Given the description of an element on the screen output the (x, y) to click on. 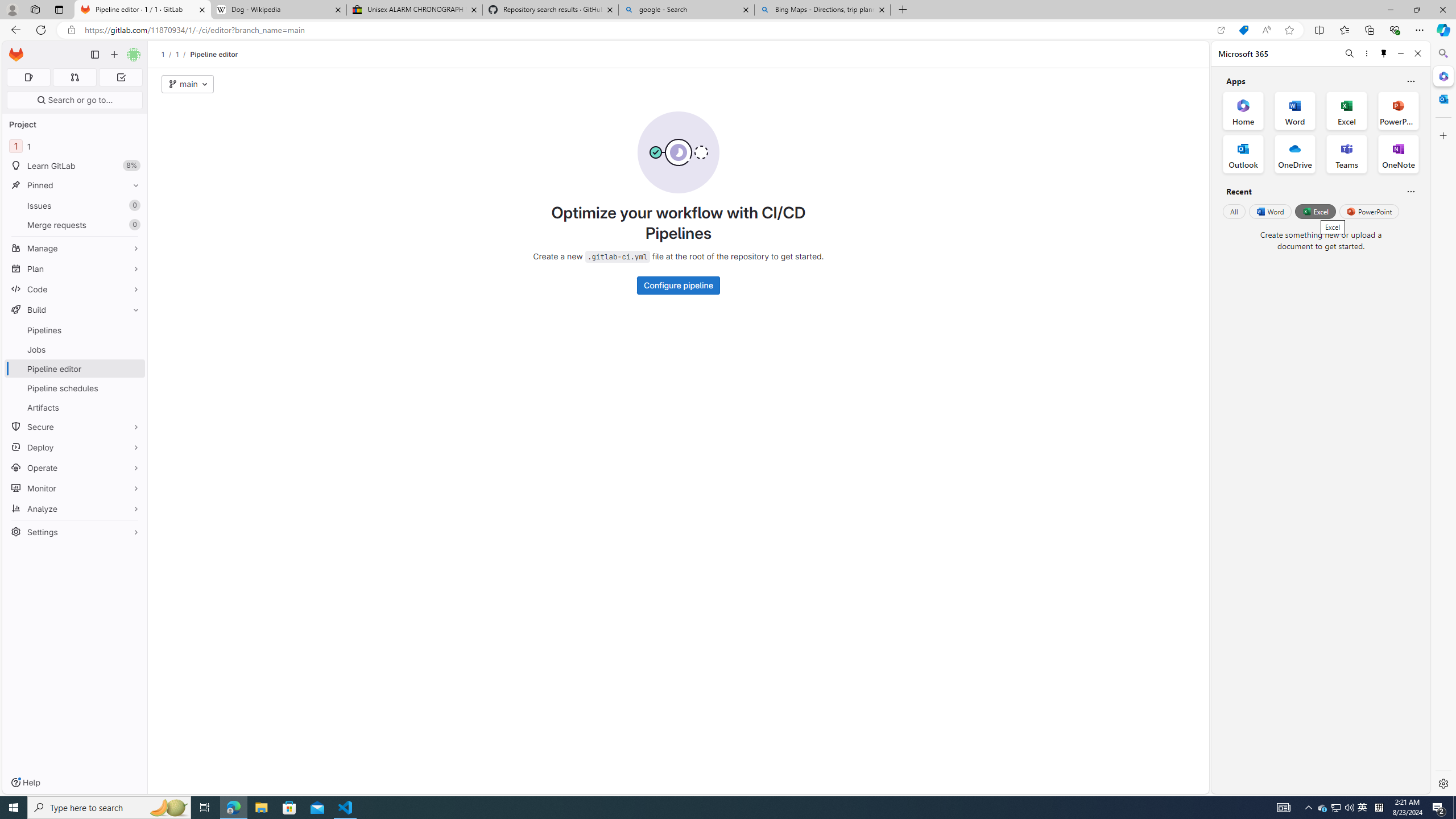
Secure (74, 426)
main (187, 84)
Build (74, 309)
1/ (183, 53)
To-Do list 0 (120, 76)
Teams Office App (1346, 154)
Operate (74, 467)
1 1 (74, 145)
Jobs (74, 348)
11 (74, 145)
